Given the description of an element on the screen output the (x, y) to click on. 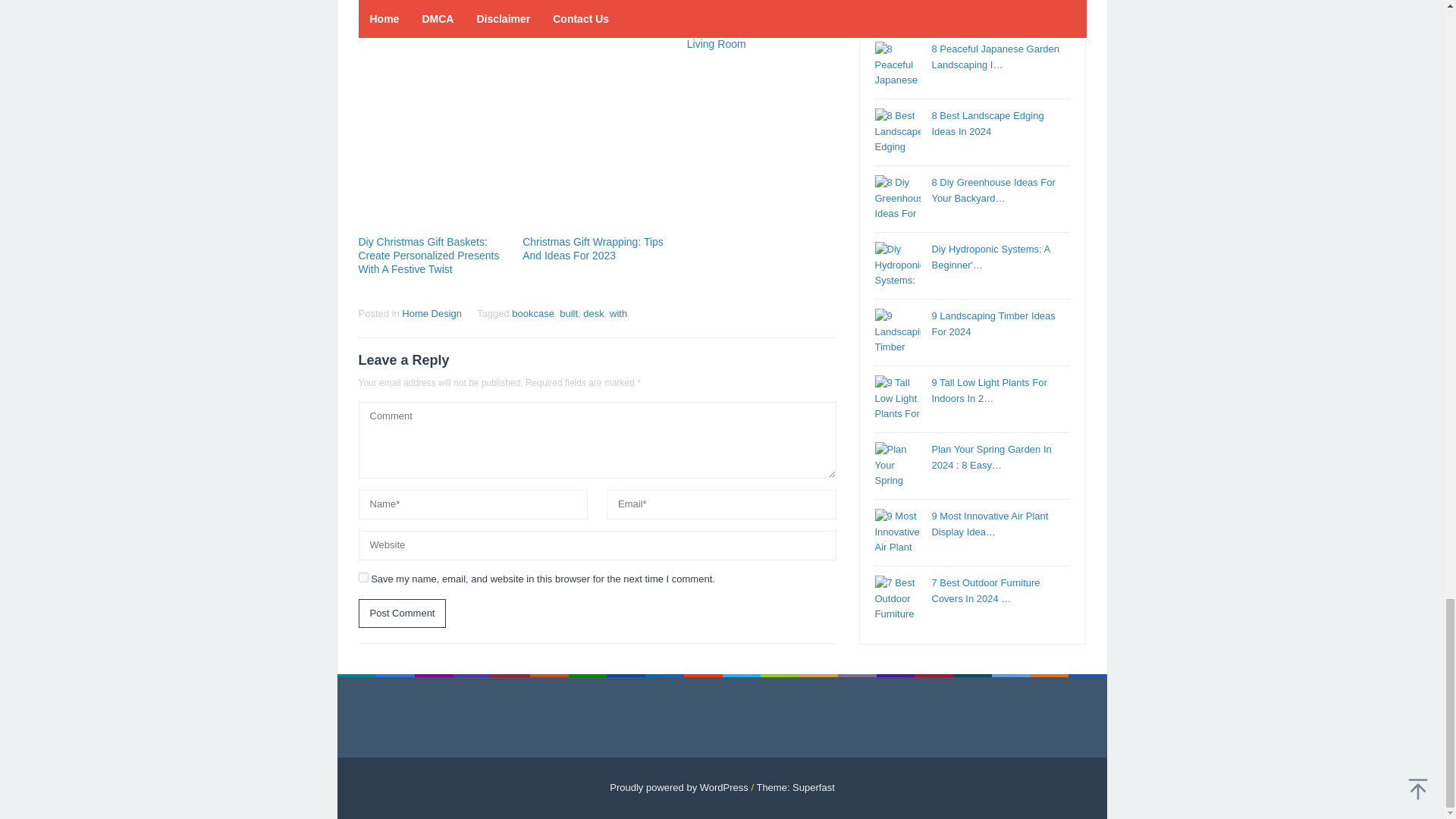
bookcase (533, 313)
desk (593, 313)
Proudly powered by WordPress (679, 787)
Christmas Gift Wrapping: Tips And Ideas For 2023 (592, 248)
Home Design (431, 313)
Post Comment (401, 613)
yes (363, 577)
